Given the description of an element on the screen output the (x, y) to click on. 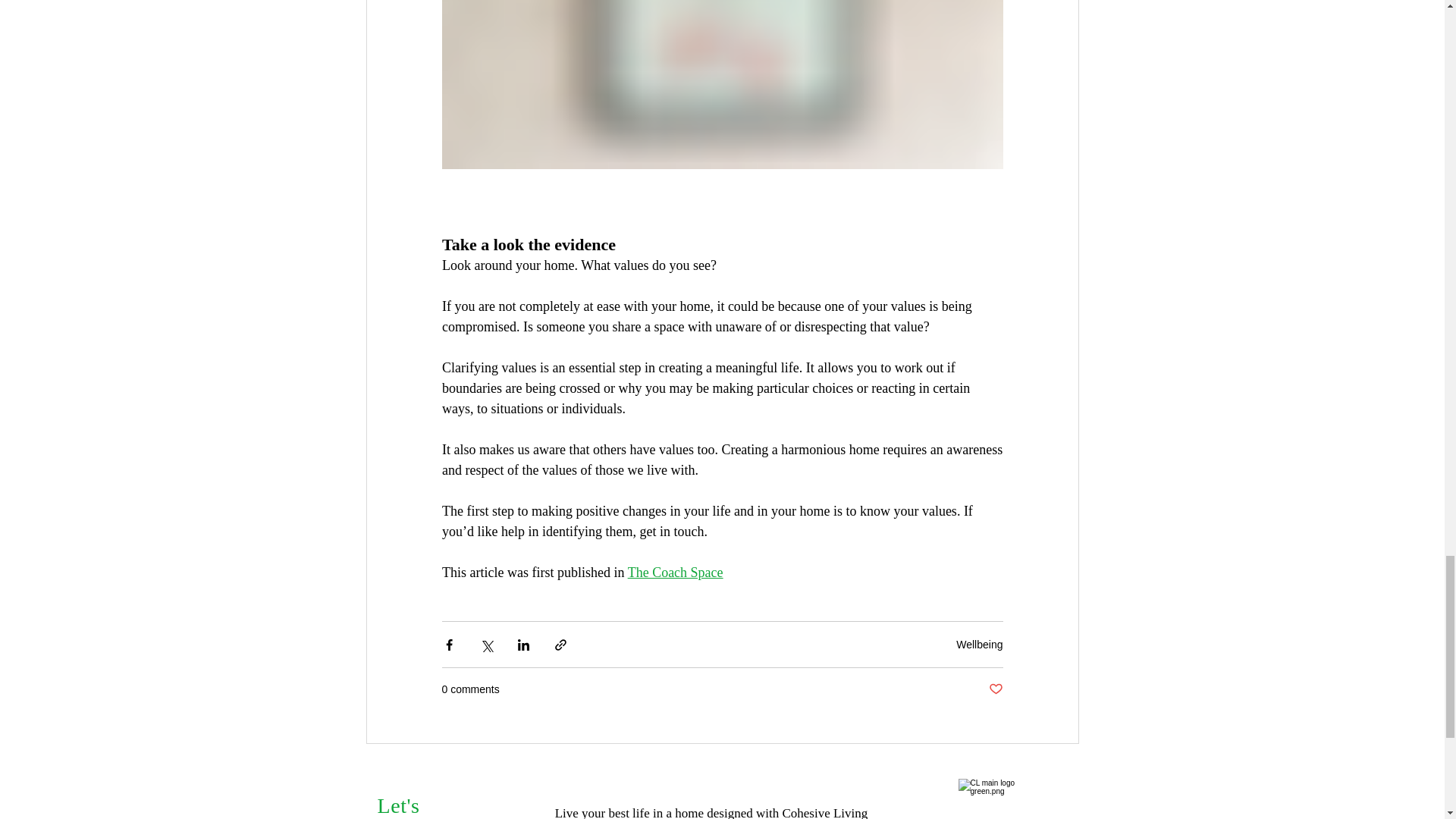
Wellbeing (979, 644)
Post not marked as liked (995, 689)
The Coach Space (674, 572)
